Given the description of an element on the screen output the (x, y) to click on. 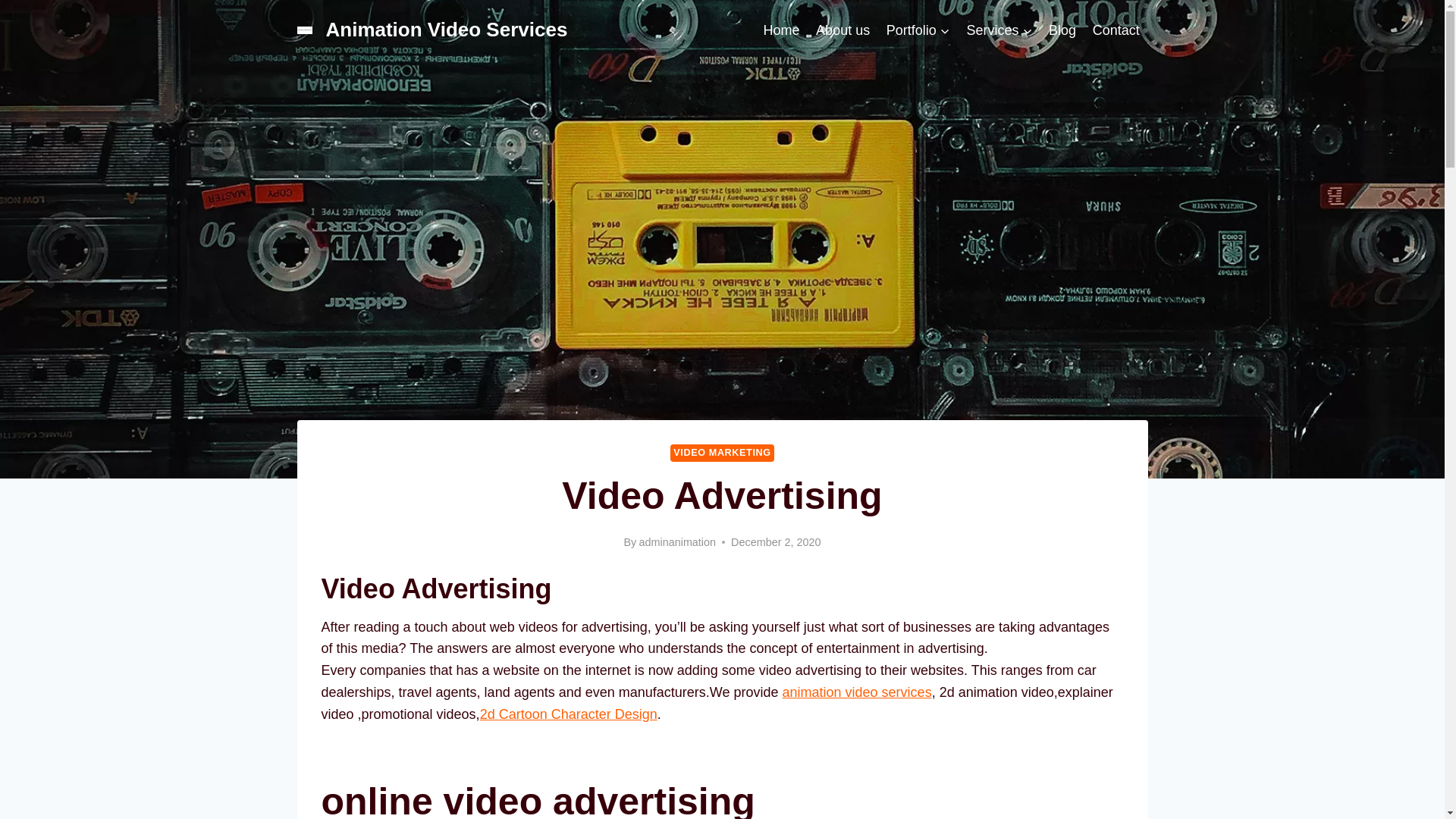
VIDEO MARKETING (721, 452)
animation video services (857, 692)
About us (842, 29)
adminanimation (677, 541)
Home (781, 29)
Portfolio (917, 29)
Blog (1062, 29)
2d Cartoon Character Design (569, 713)
Services (999, 29)
Animation Video Services (432, 29)
